Given the description of an element on the screen output the (x, y) to click on. 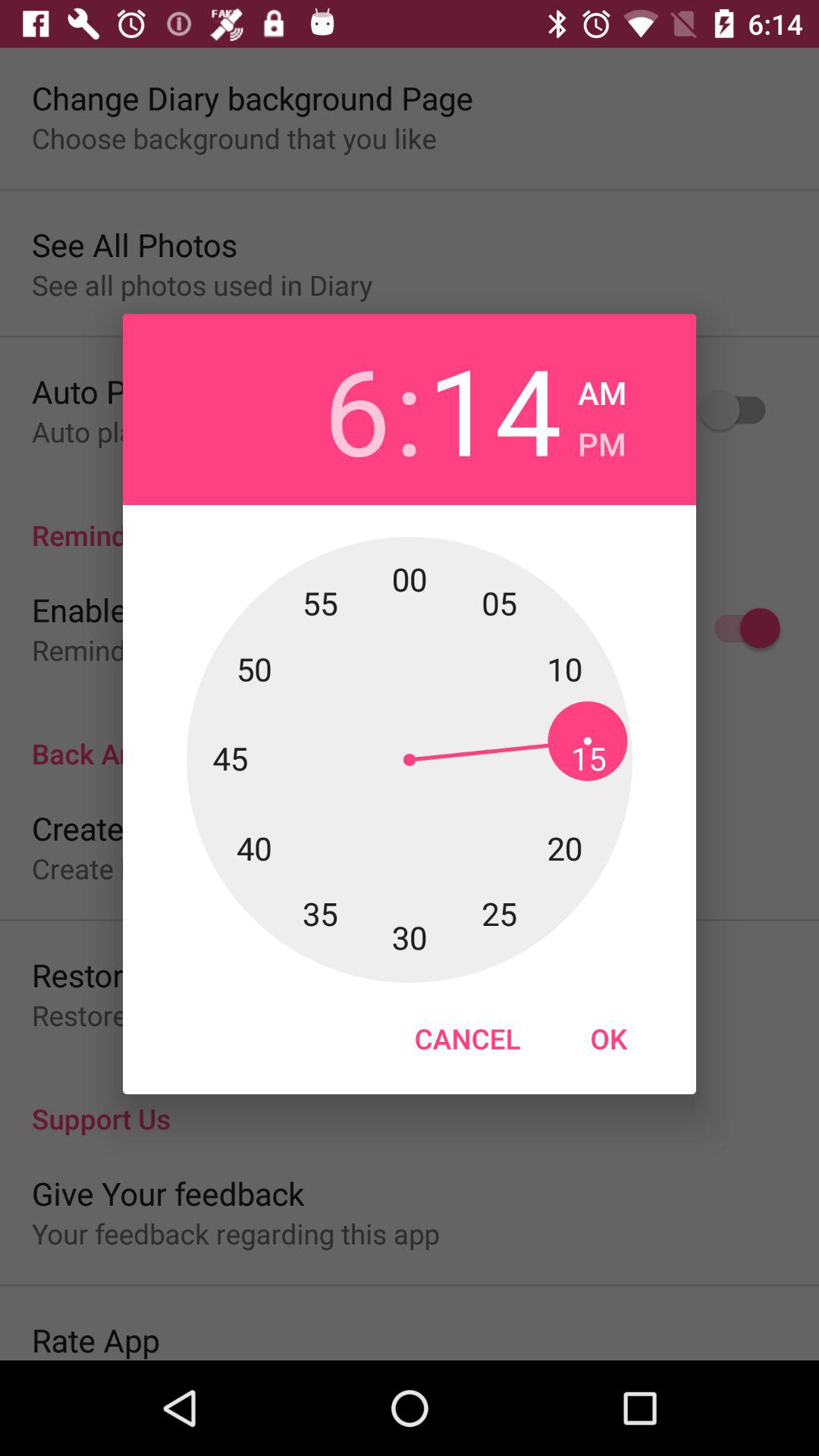
turn on icon to the right of the cancel item (608, 1038)
